Given the description of an element on the screen output the (x, y) to click on. 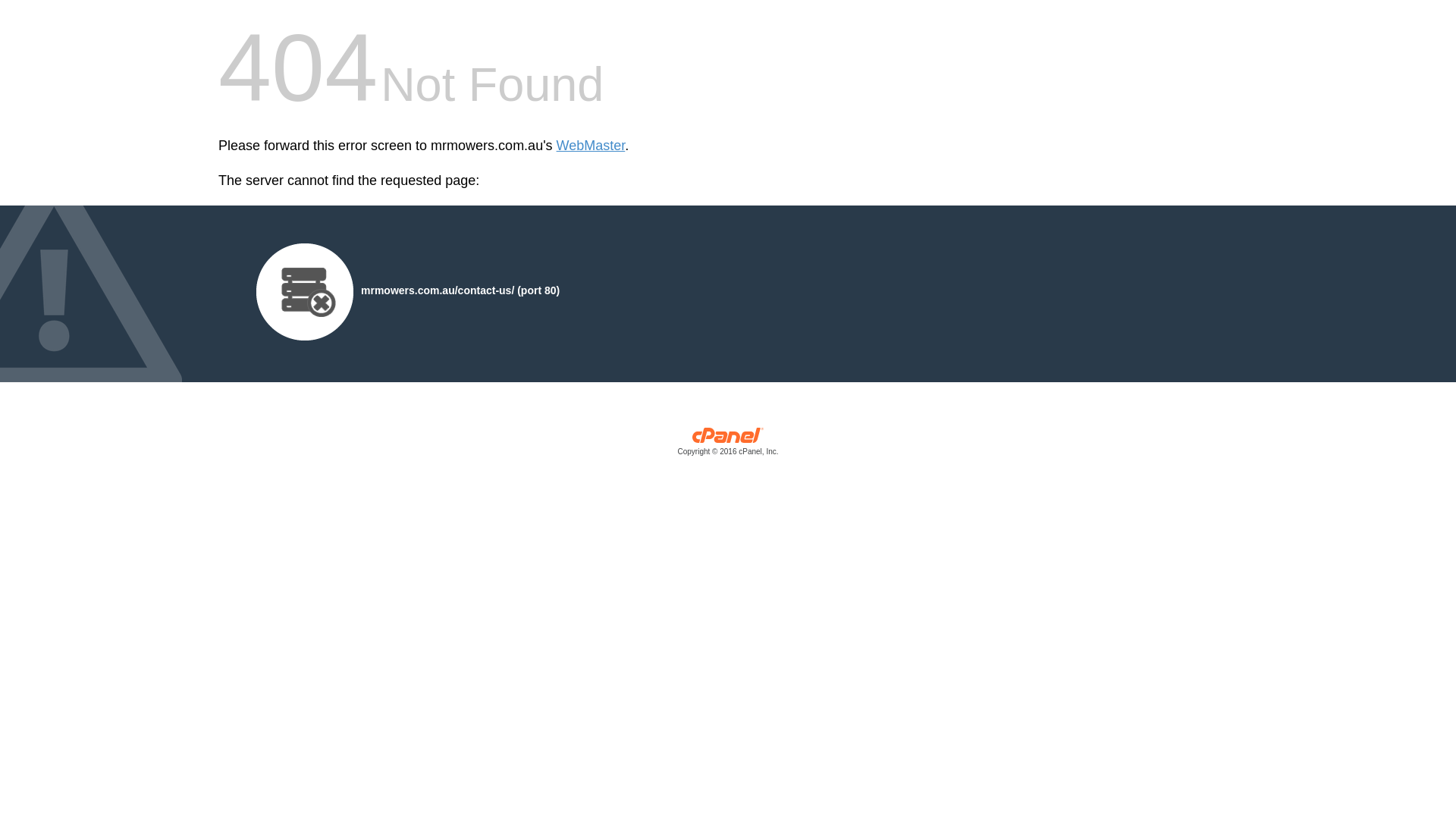
WebMaster Element type: text (590, 145)
